Given the description of an element on the screen output the (x, y) to click on. 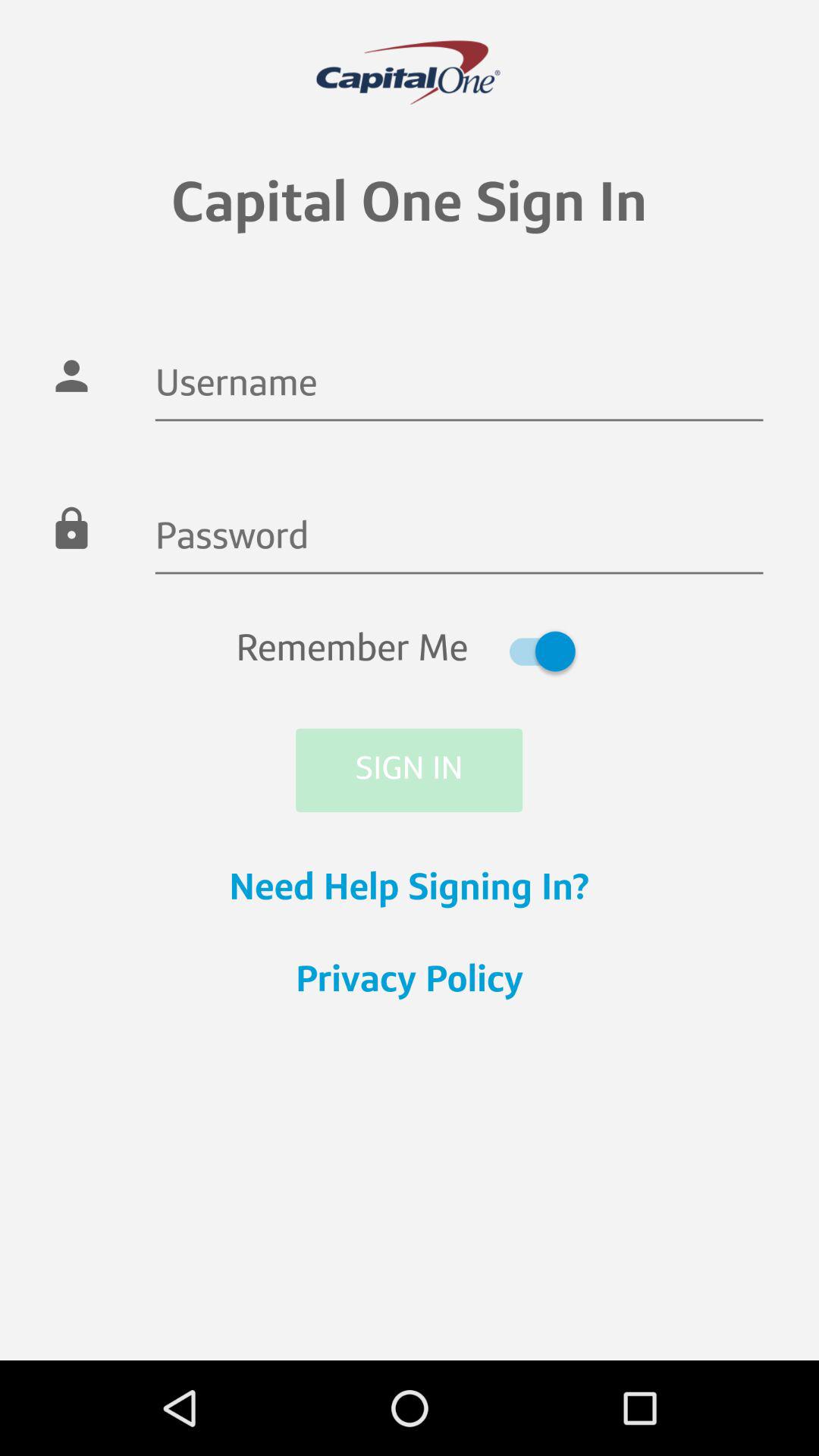
tap privacy policy item (409, 982)
